Given the description of an element on the screen output the (x, y) to click on. 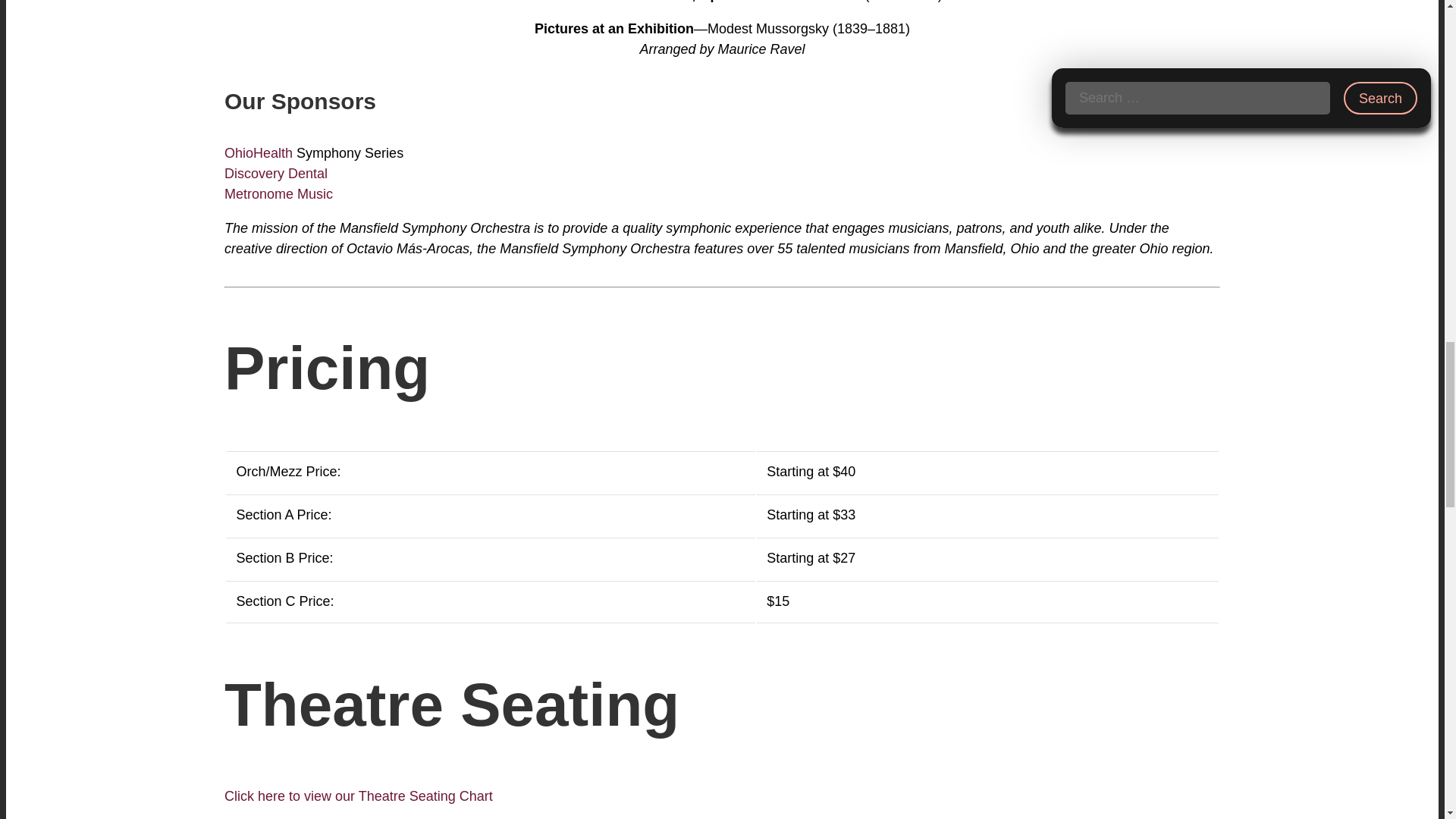
OhioHealth (258, 152)
